Given the description of an element on the screen output the (x, y) to click on. 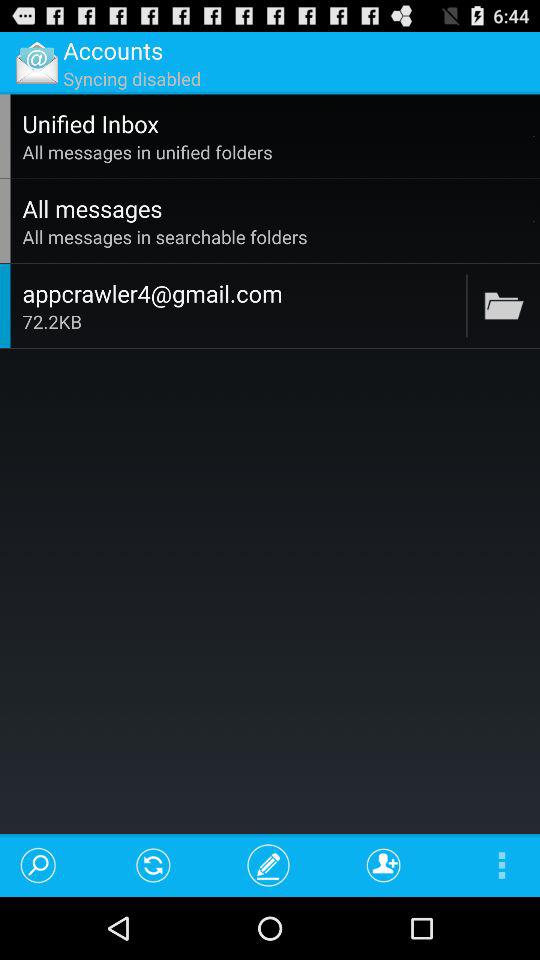
launch app next to unified inbox (533, 136)
